Given the description of an element on the screen output the (x, y) to click on. 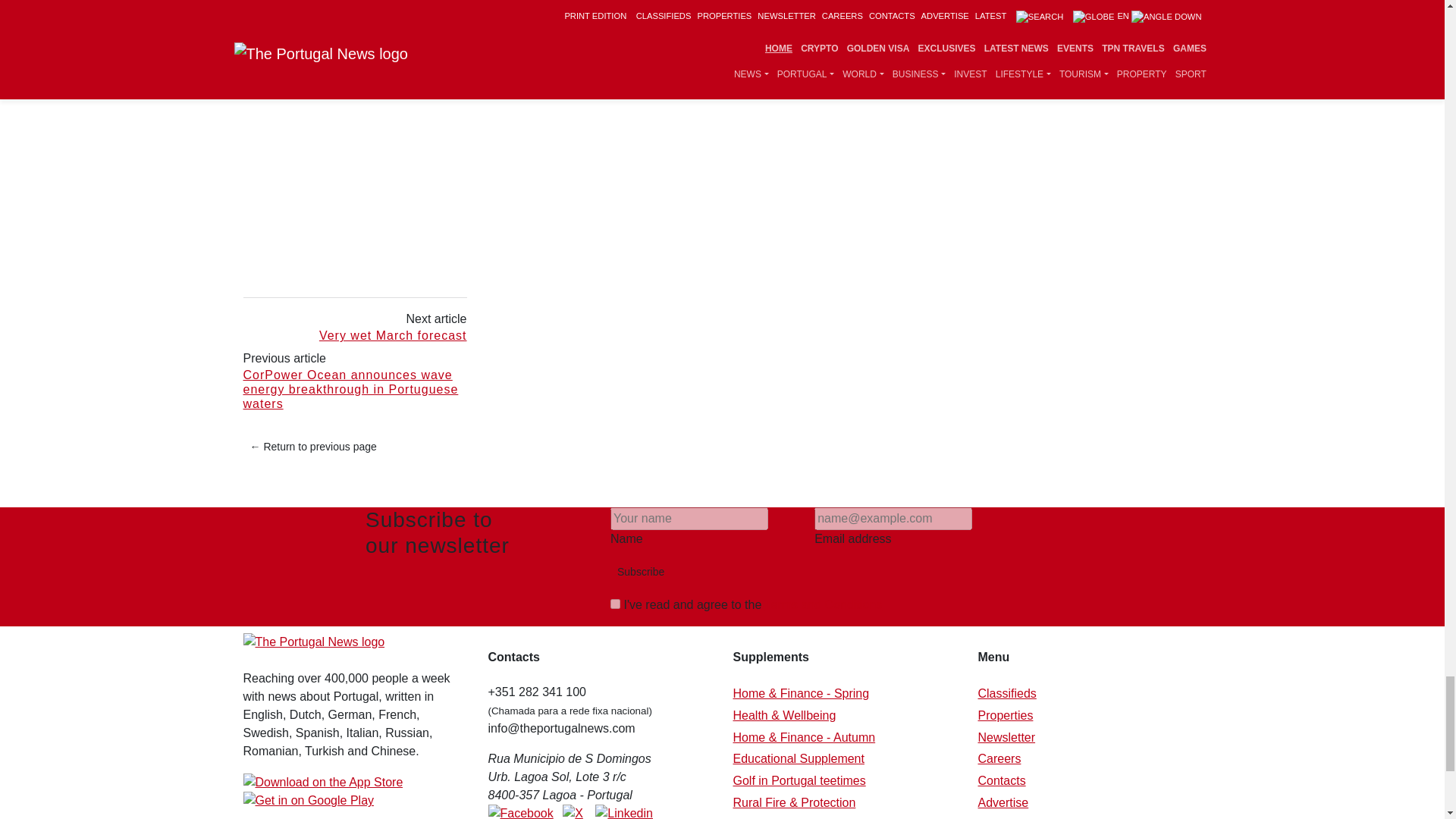
on (615, 603)
